Given the description of an element on the screen output the (x, y) to click on. 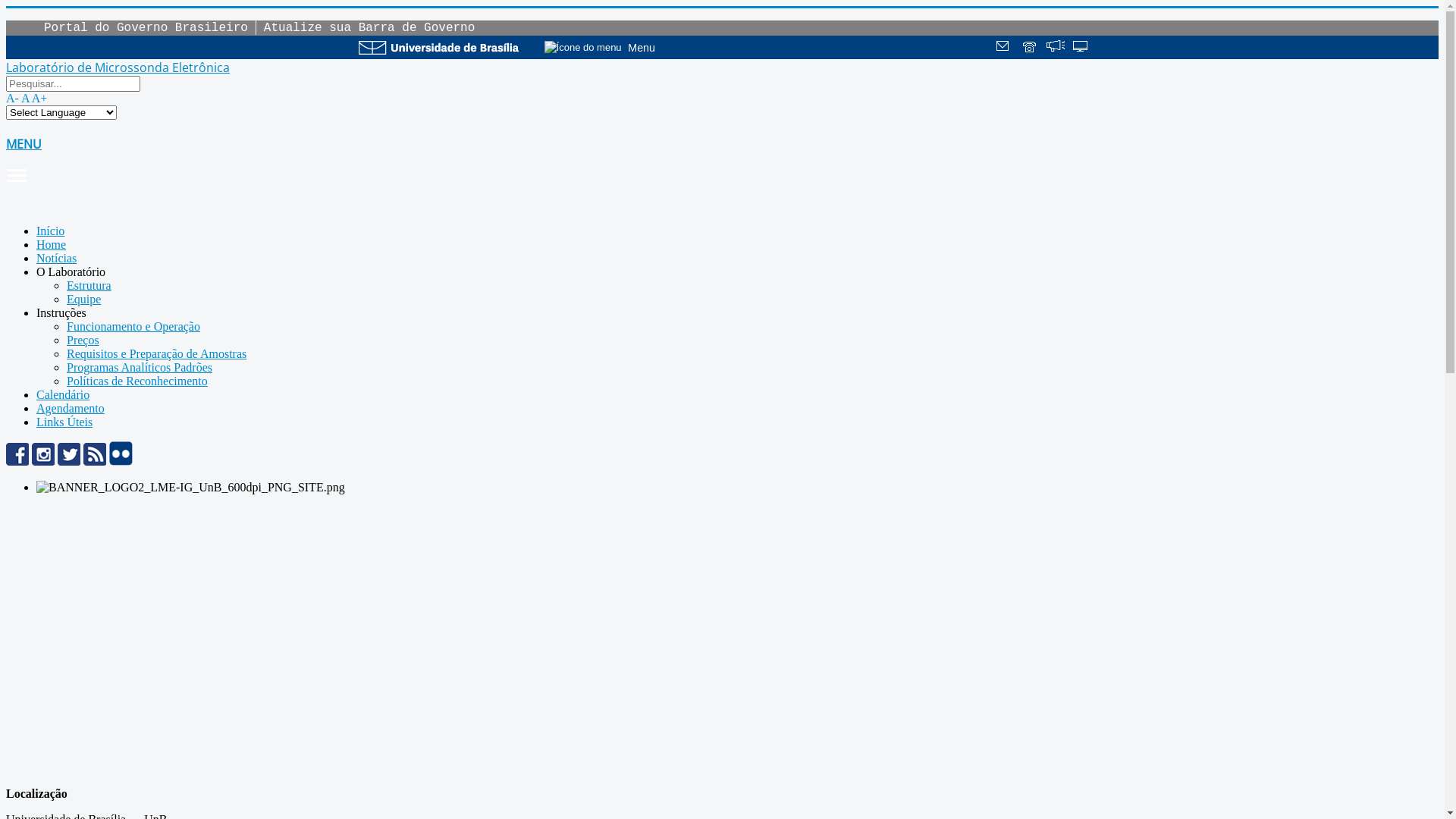
Portal do Governo Brasileiro Element type: text (145, 27)
  Element type: text (1055, 47)
MENU Element type: text (722, 159)
Sistemas Element type: hover (1081, 47)
Equipe Element type: text (83, 298)
Estrutura Element type: text (88, 285)
Telefones da UnB Element type: hover (1030, 47)
Menu Element type: text (610, 46)
Atualize sua Barra de Governo Element type: text (368, 27)
Home Element type: text (50, 244)
Ir para o Portal da UnB Element type: hover (438, 46)
A- Element type: text (12, 97)
A Element type: text (25, 97)
Fala.BR Element type: hover (1055, 47)
A+ Element type: text (39, 97)
  Element type: text (1004, 47)
Webmail Element type: hover (1004, 47)
  Element type: text (1081, 47)
  Element type: text (1030, 47)
Agendamento Element type: text (70, 407)
